Given the description of an element on the screen output the (x, y) to click on. 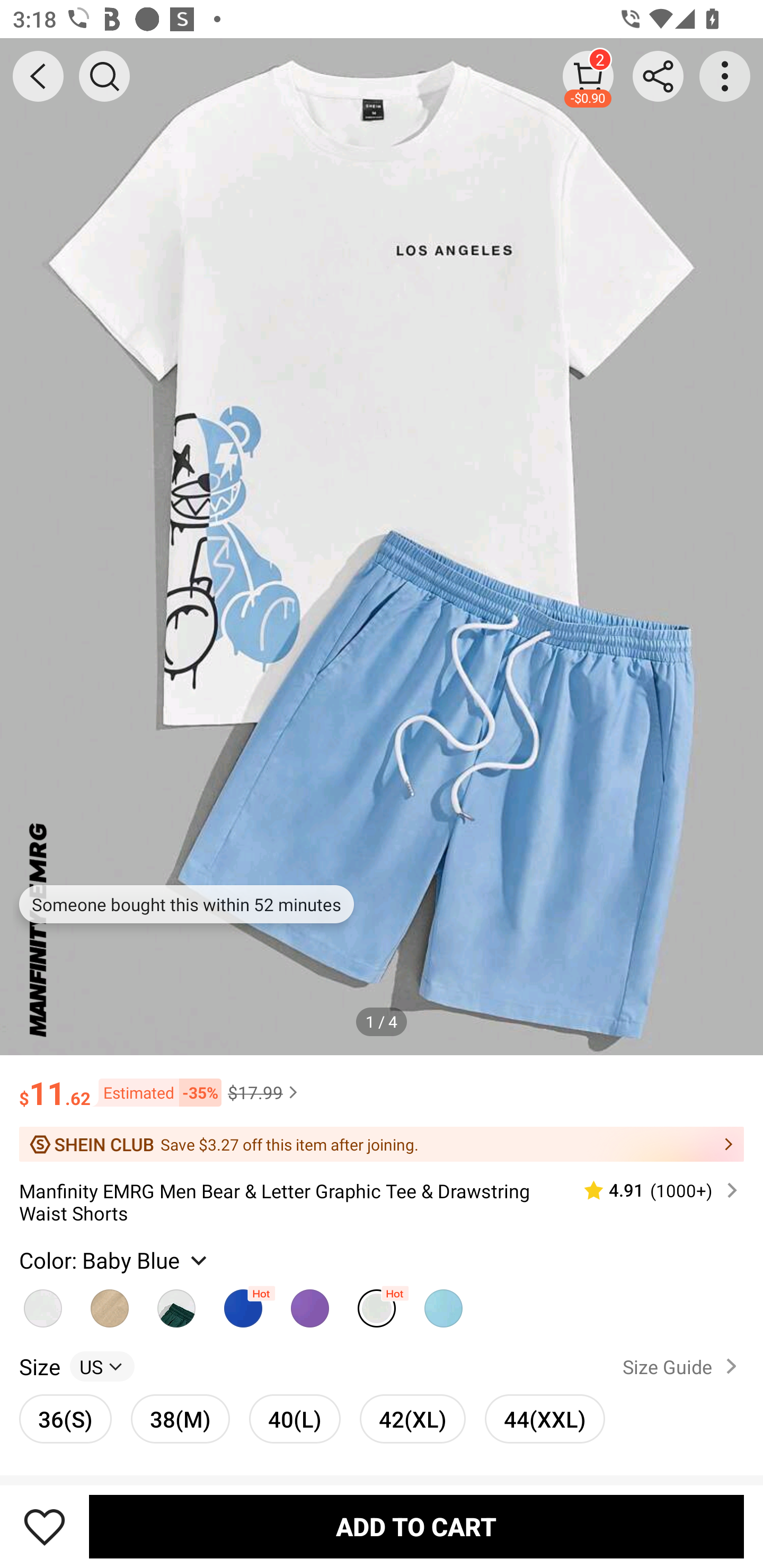
BACK (38, 75)
2 -$0.90 (588, 75)
1 / 4 (381, 1021)
Estimated -35% (155, 1092)
$17.99 (265, 1091)
Save $3.27 off this item after joining. (381, 1144)
4.91 (1000‎+) (653, 1189)
Color: Baby Blue (115, 1259)
Khaki (42, 1303)
Khaki (109, 1303)
Green (176, 1303)
Royal Blue (242, 1303)
Violet Purple (309, 1303)
Baby Blue (376, 1303)
Mint Blue (443, 1303)
Size (39, 1366)
US (102, 1366)
Size Guide (682, 1366)
36(S) 36(S)unselected option (65, 1418)
38(M) 38(M)unselected option (180, 1418)
40(L) 40(L)unselected option (294, 1418)
42(XL) 42(XL)unselected option (412, 1418)
44(XXL) 44(XXL)unselected option (544, 1418)
ADD TO CART (416, 1526)
Save (44, 1526)
